Given the description of an element on the screen output the (x, y) to click on. 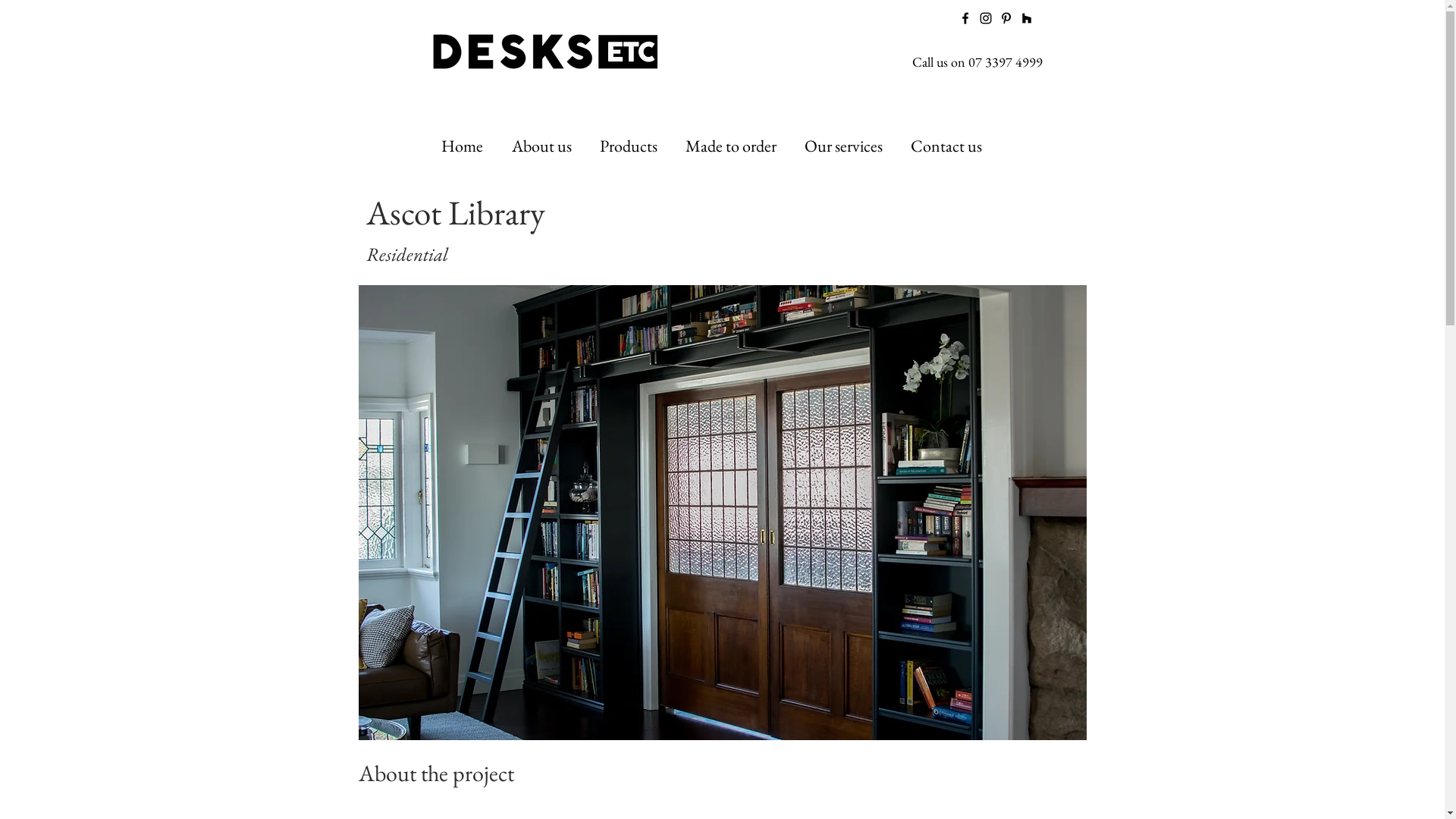
About us Element type: text (544, 146)
Made to order Element type: text (732, 146)
Our services Element type: text (846, 146)
Call us on 07 3397 4999 Element type: text (976, 61)
Contact us Element type: text (948, 146)
Products Element type: text (631, 146)
Home Element type: text (464, 146)
